Given the description of an element on the screen output the (x, y) to click on. 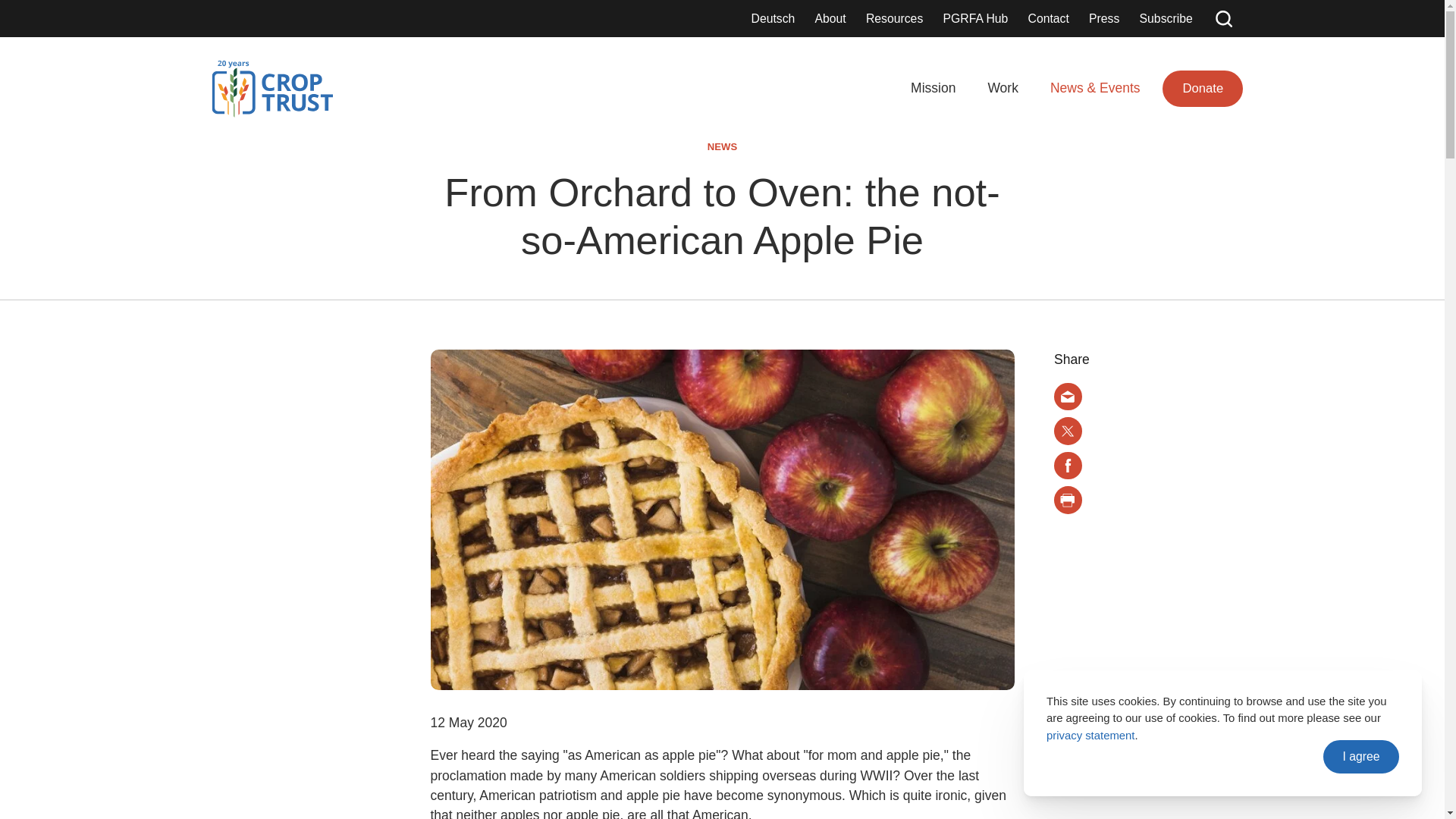
Press (1103, 17)
Resources (894, 17)
Crop Trust - Securing our food, forever (272, 88)
Subscribe (1165, 17)
PGRFA Hub (975, 17)
About (830, 17)
Deutsch (773, 17)
Mission (933, 88)
Contact (1047, 17)
Work (1002, 88)
